Given the description of an element on the screen output the (x, y) to click on. 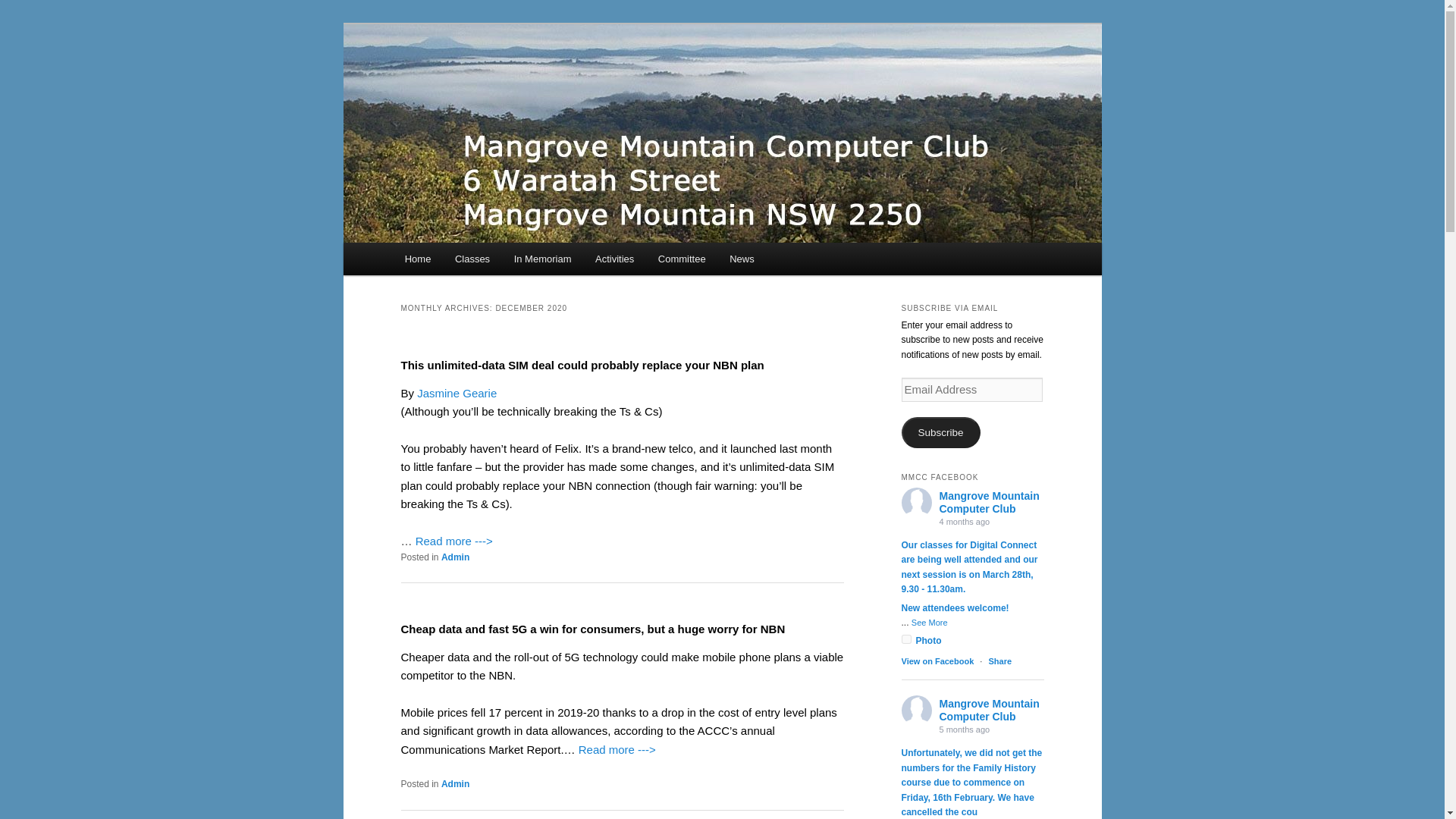
See More (929, 622)
In Memoriam (542, 258)
View on Facebook (937, 660)
Committee (681, 258)
Mangrove Mountain Computer Club (593, 78)
View on Facebook (937, 660)
News (741, 258)
Mangrove Mountain Computer Club (989, 502)
Home (417, 258)
Photo (920, 640)
Subscribe (940, 431)
Share (999, 660)
Activities (614, 258)
